Given the description of an element on the screen output the (x, y) to click on. 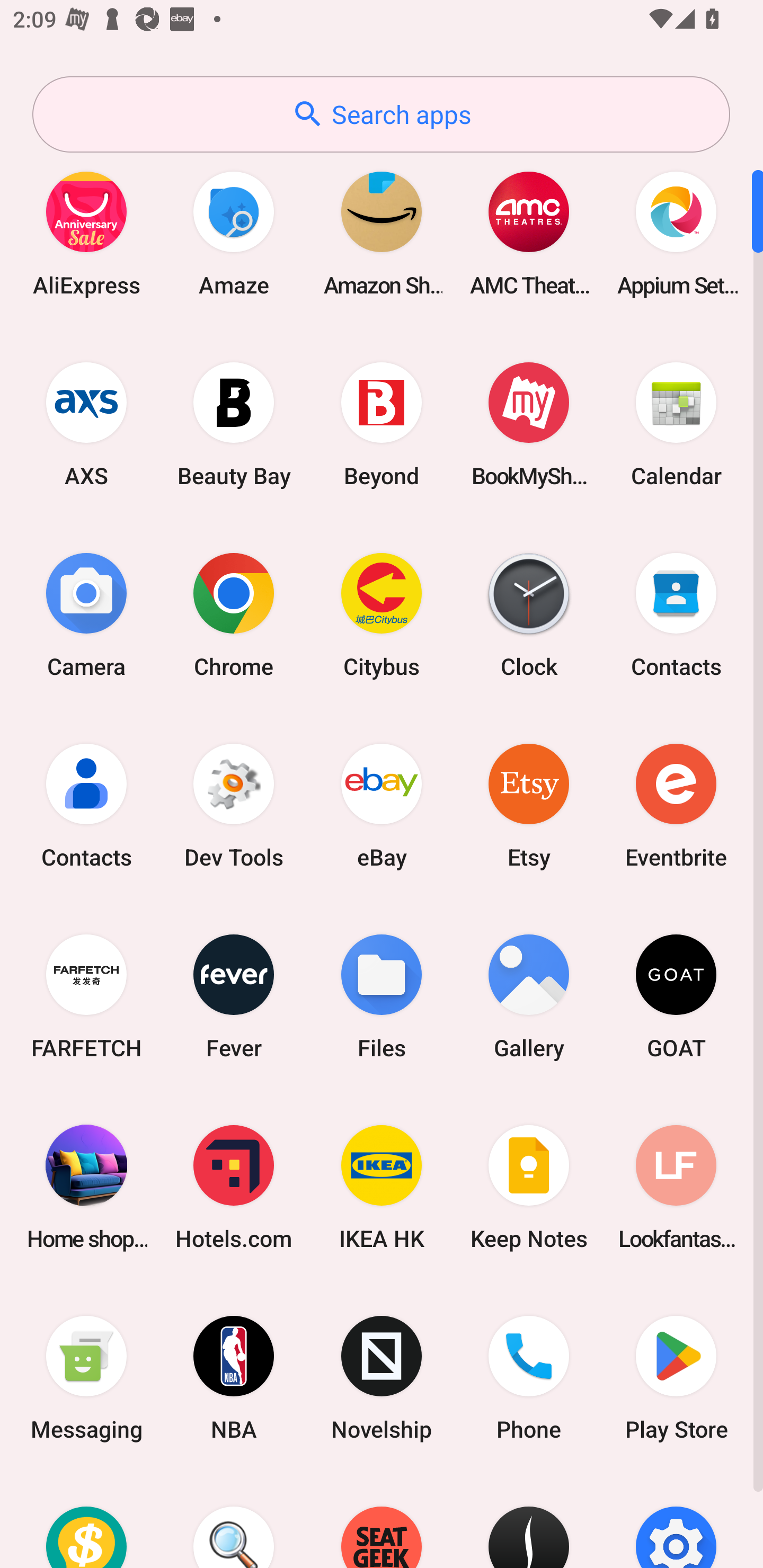
  Search apps (381, 114)
AliExpress (86, 233)
Amaze (233, 233)
Amazon Shopping (381, 233)
AMC Theatres (528, 233)
Appium Settings (676, 233)
AXS (86, 424)
Beauty Bay (233, 424)
Beyond (381, 424)
BookMyShow (528, 424)
Calendar (676, 424)
Camera (86, 614)
Chrome (233, 614)
Citybus (381, 614)
Clock (528, 614)
Contacts (676, 614)
Contacts (86, 805)
Dev Tools (233, 805)
eBay (381, 805)
Etsy (528, 805)
Eventbrite (676, 805)
FARFETCH (86, 996)
Fever (233, 996)
Files (381, 996)
Gallery (528, 996)
GOAT (676, 996)
Home shopping (86, 1186)
Hotels.com (233, 1186)
IKEA HK (381, 1186)
Keep Notes (528, 1186)
Lookfantastic (676, 1186)
Messaging (86, 1377)
NBA (233, 1377)
Novelship (381, 1377)
Phone (528, 1377)
Play Store (676, 1377)
